Given the description of an element on the screen output the (x, y) to click on. 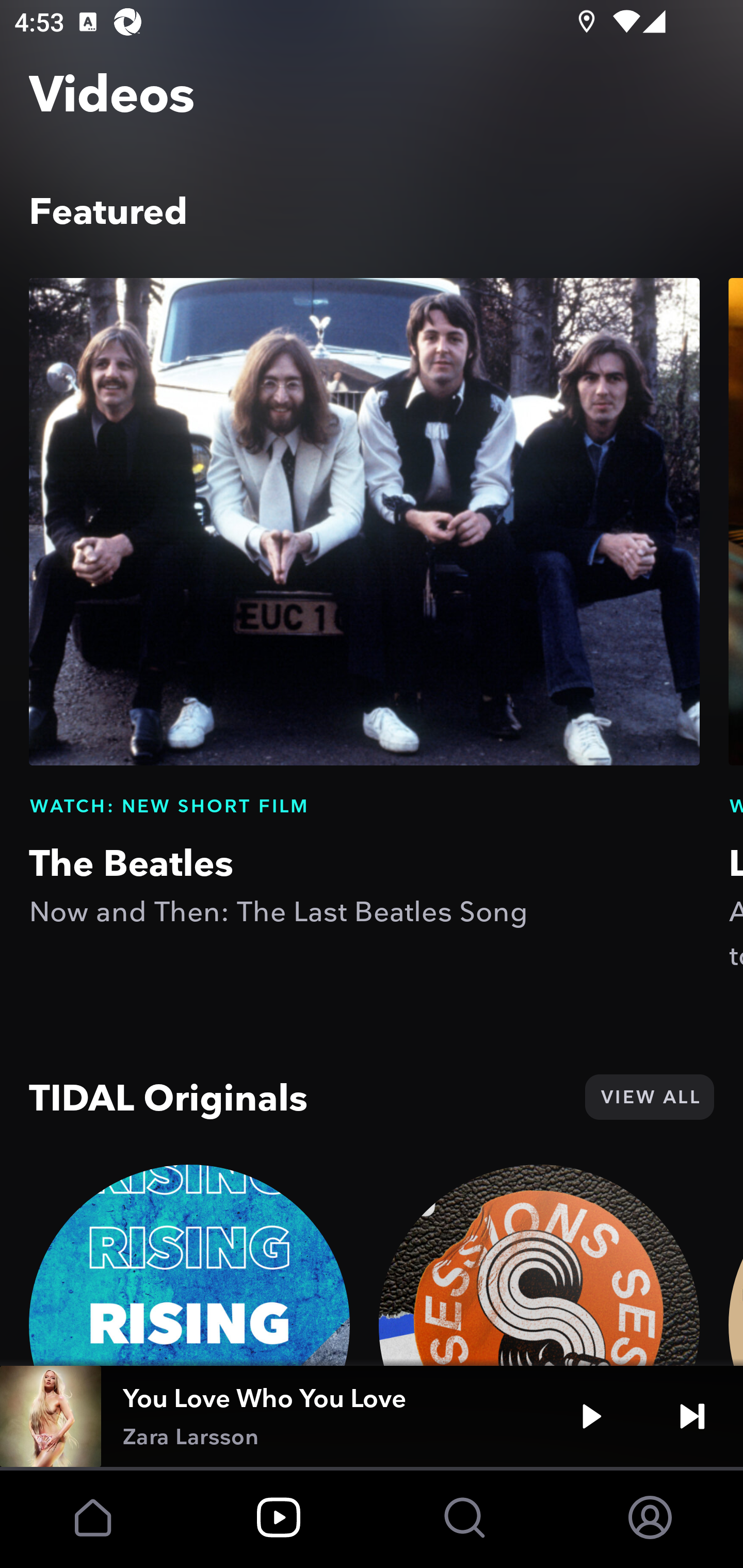
VIEW ALL (649, 1096)
You Love Who You Love Zara Larsson Play (371, 1416)
Play (590, 1416)
